Given the description of an element on the screen output the (x, y) to click on. 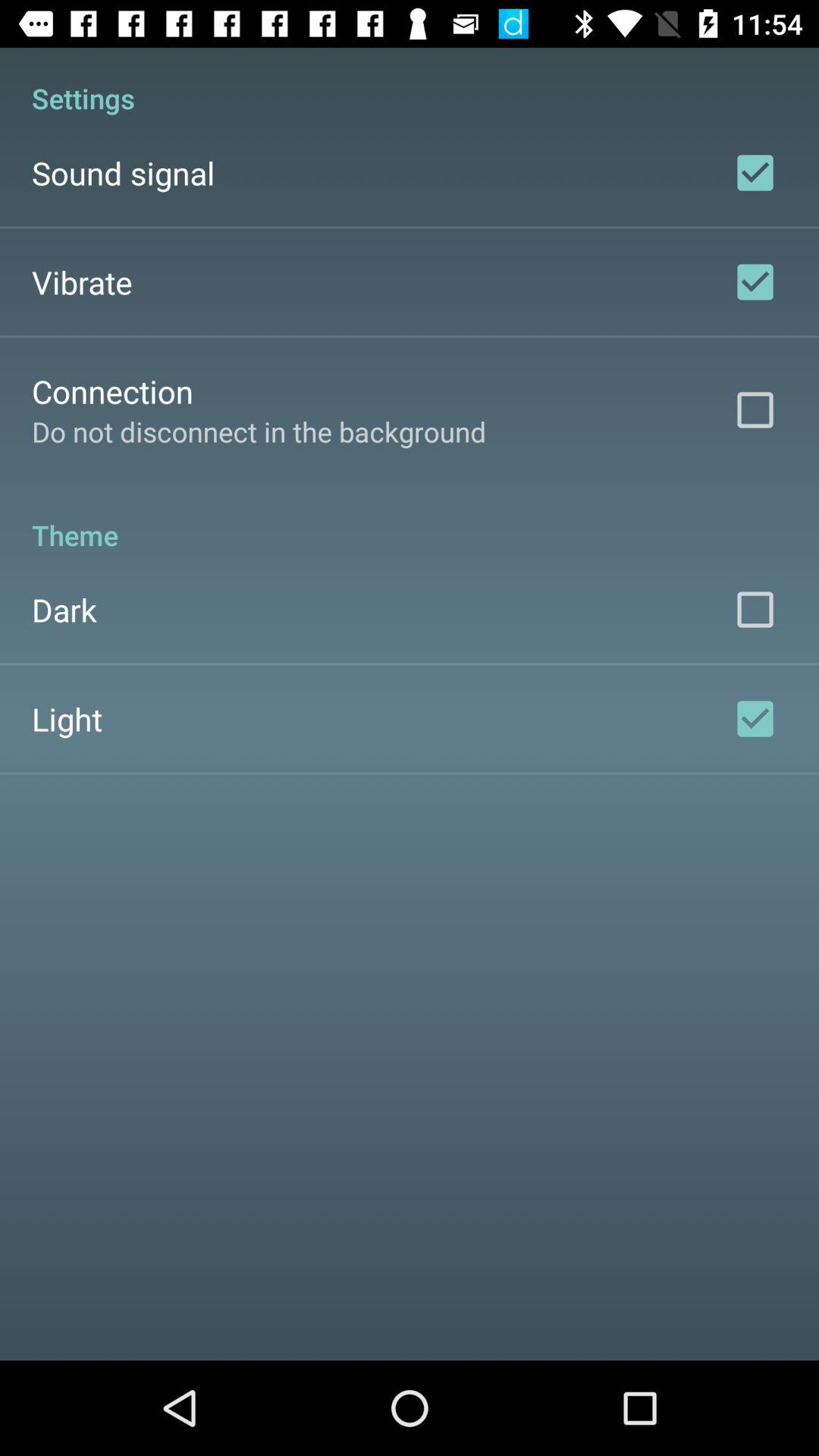
choose the app below dark app (66, 718)
